Given the description of an element on the screen output the (x, y) to click on. 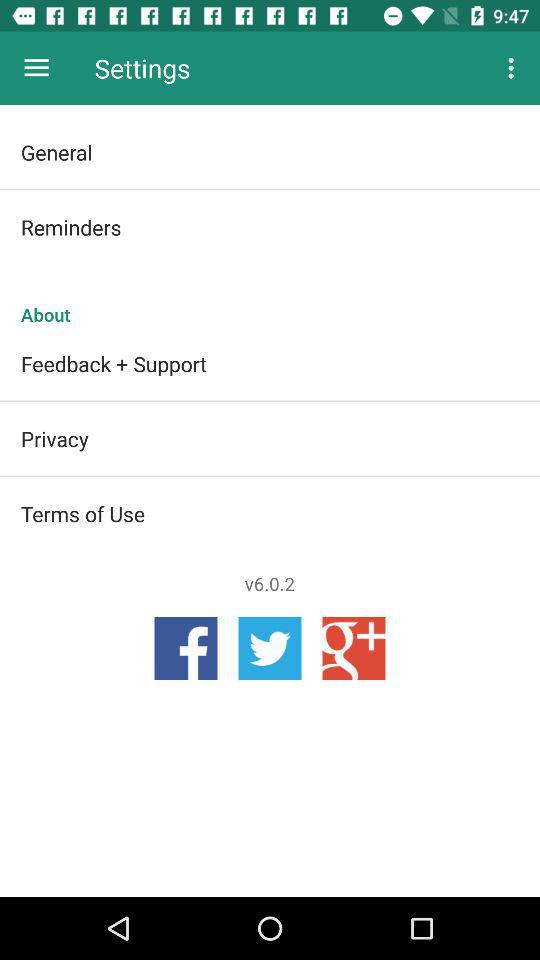
select app next to the settings app (513, 67)
